Given the description of an element on the screen output the (x, y) to click on. 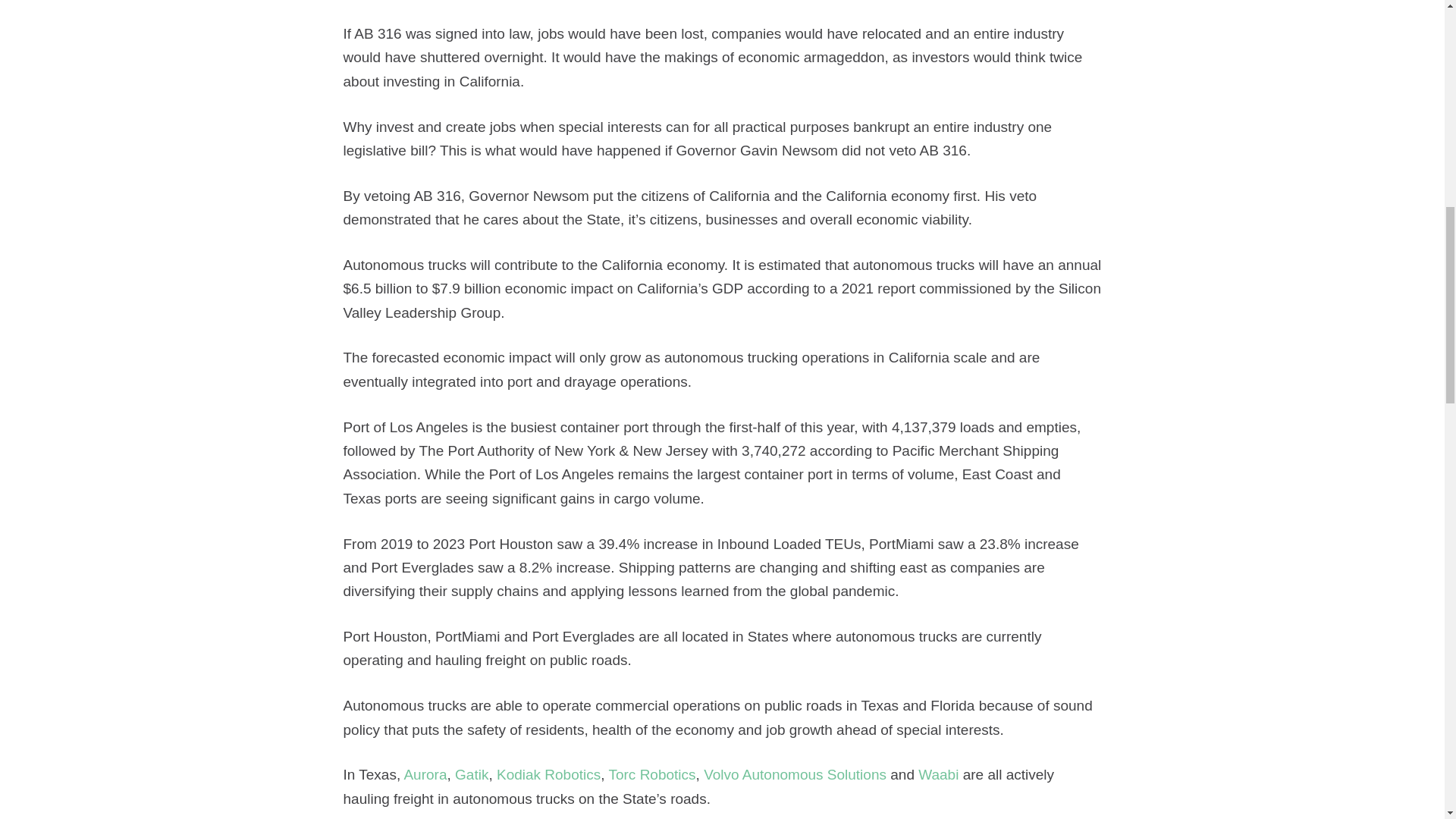
Gatik (470, 774)
Kodiak Robotics (547, 774)
Volvo Autonomous Solutions (794, 774)
Torc Robotics (651, 774)
Aurora (424, 774)
Waabi (938, 774)
